Given the description of an element on the screen output the (x, y) to click on. 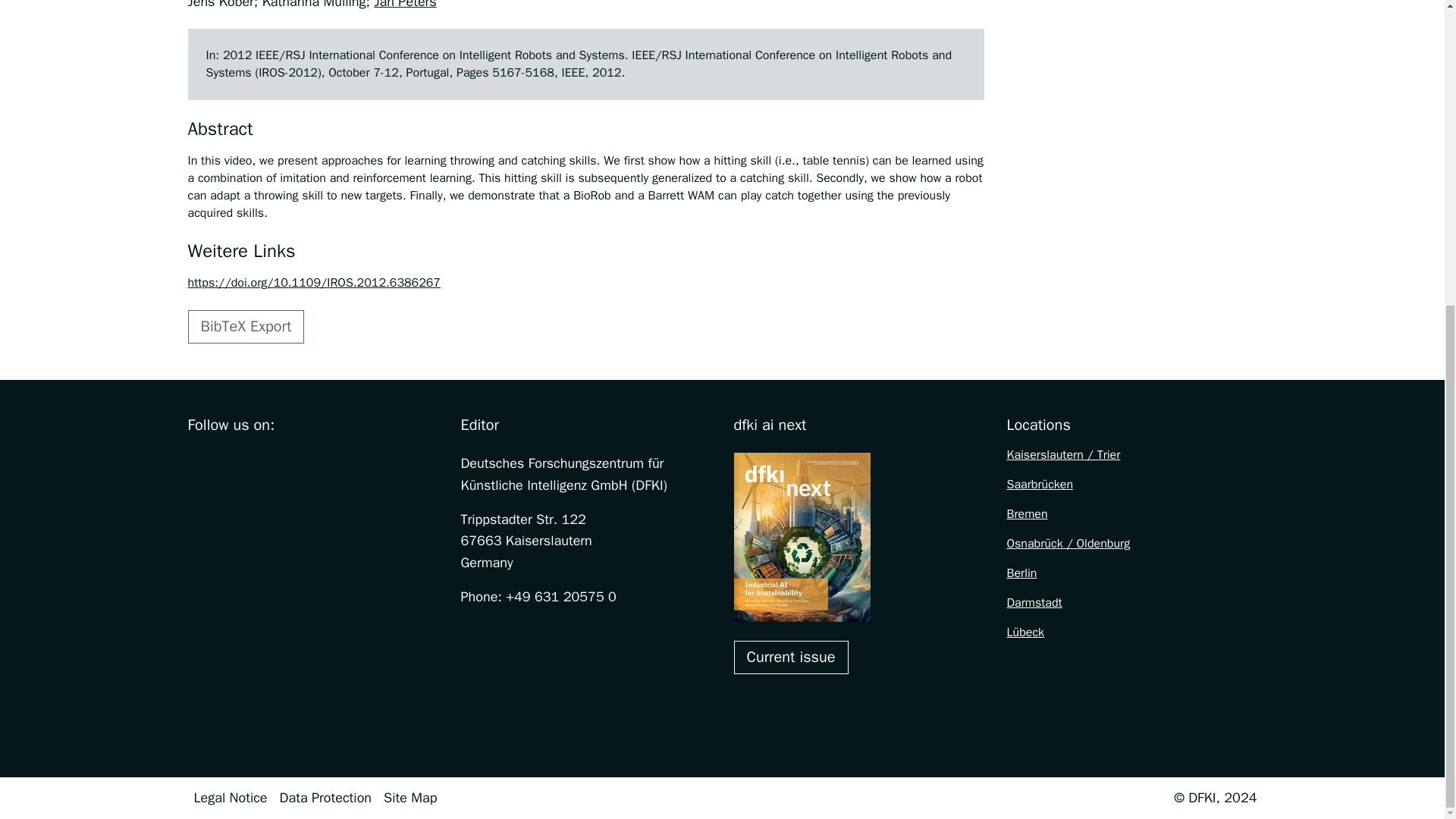
Follow us on: X (260, 462)
Follow us on: LinkedIn (324, 462)
Follow us on: Youtube (292, 462)
Follow us on: Facebook (197, 462)
To AI Magazine dfki ai next (790, 657)
Follow us on: Instagram (229, 462)
